Given the description of an element on the screen output the (x, y) to click on. 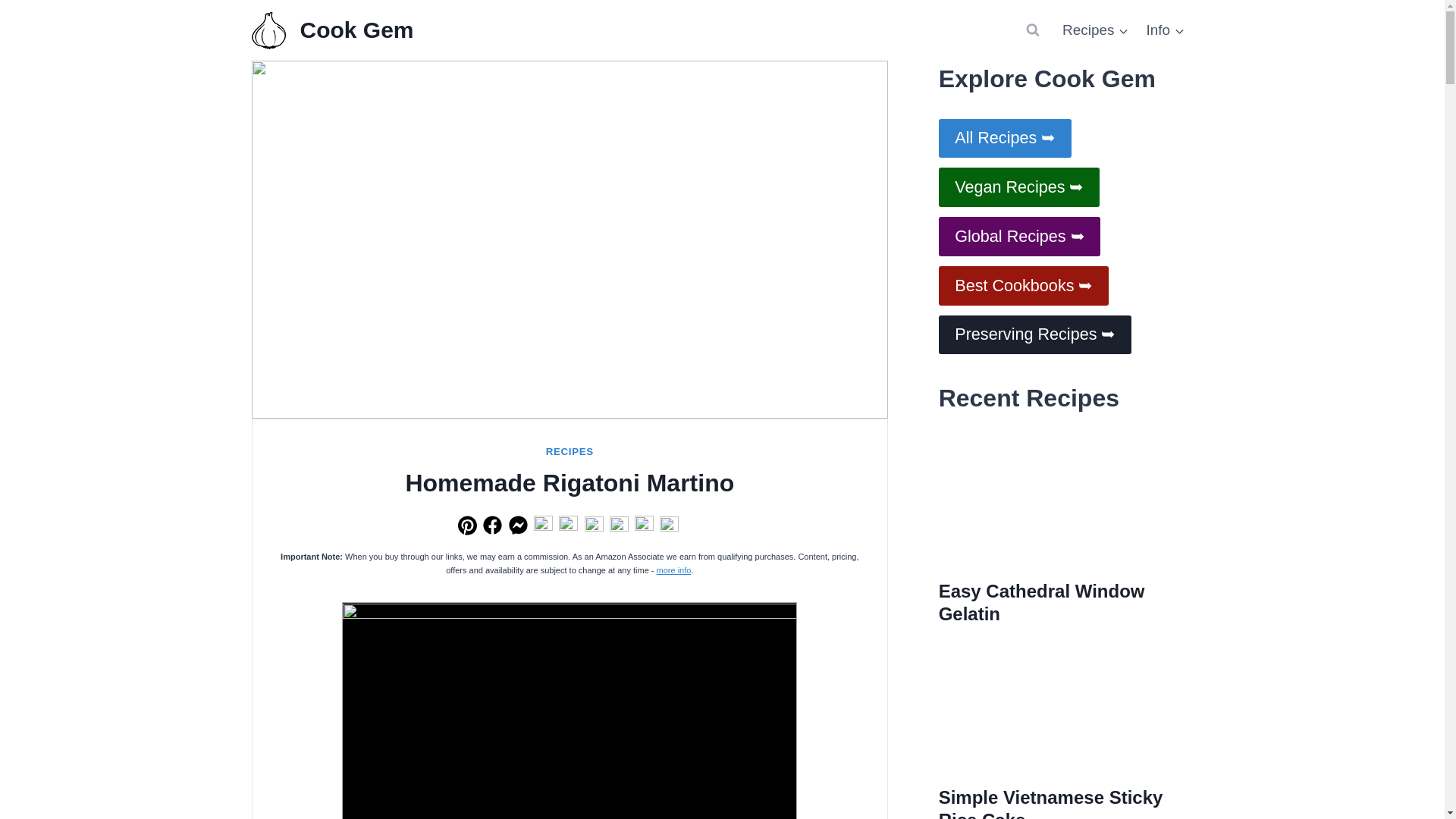
Cook Gem (332, 30)
Recipes (1095, 29)
RECIPES (570, 451)
Info (1164, 29)
more info (673, 569)
